Given the description of an element on the screen output the (x, y) to click on. 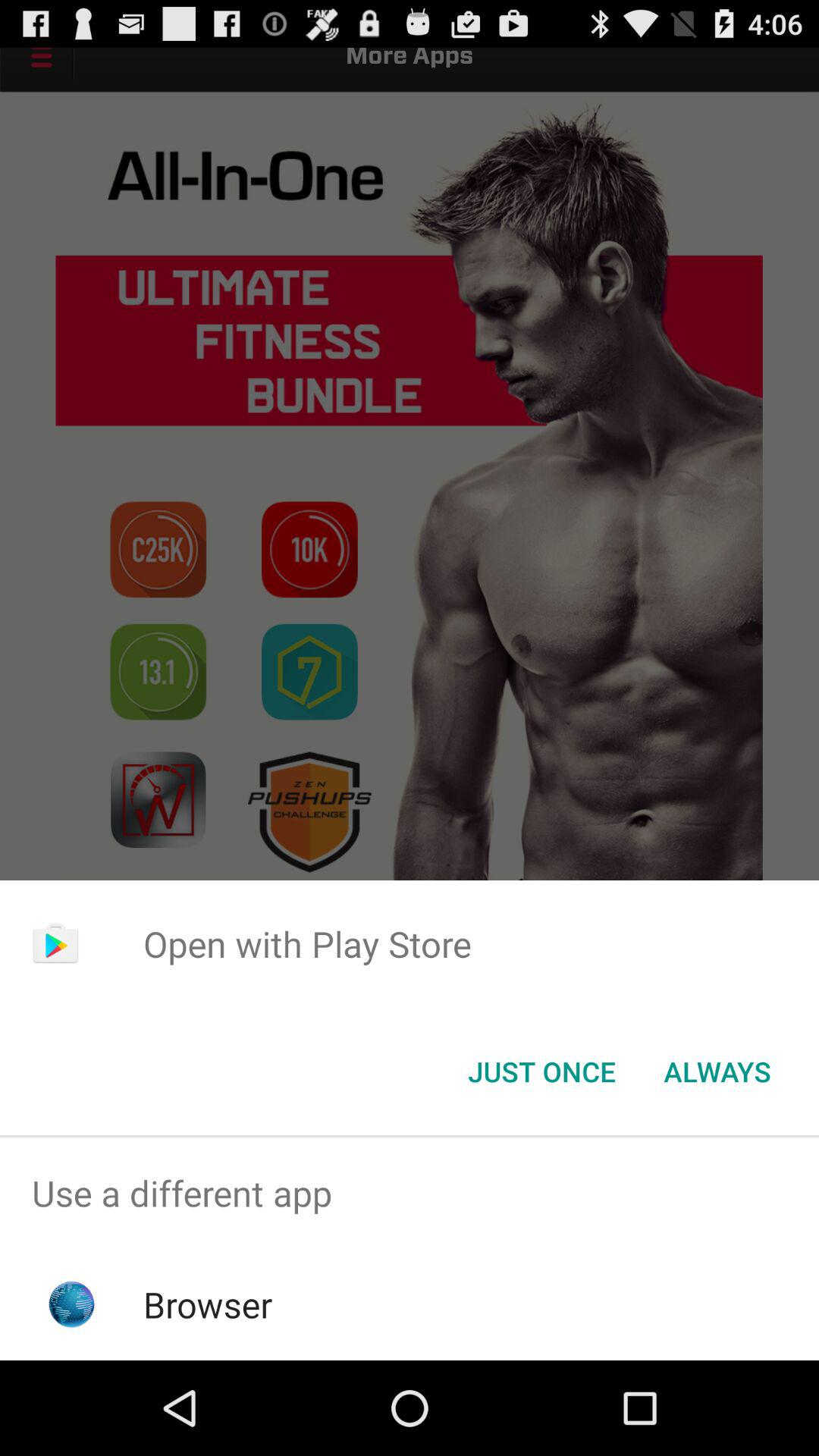
open item next to always (541, 1071)
